Given the description of an element on the screen output the (x, y) to click on. 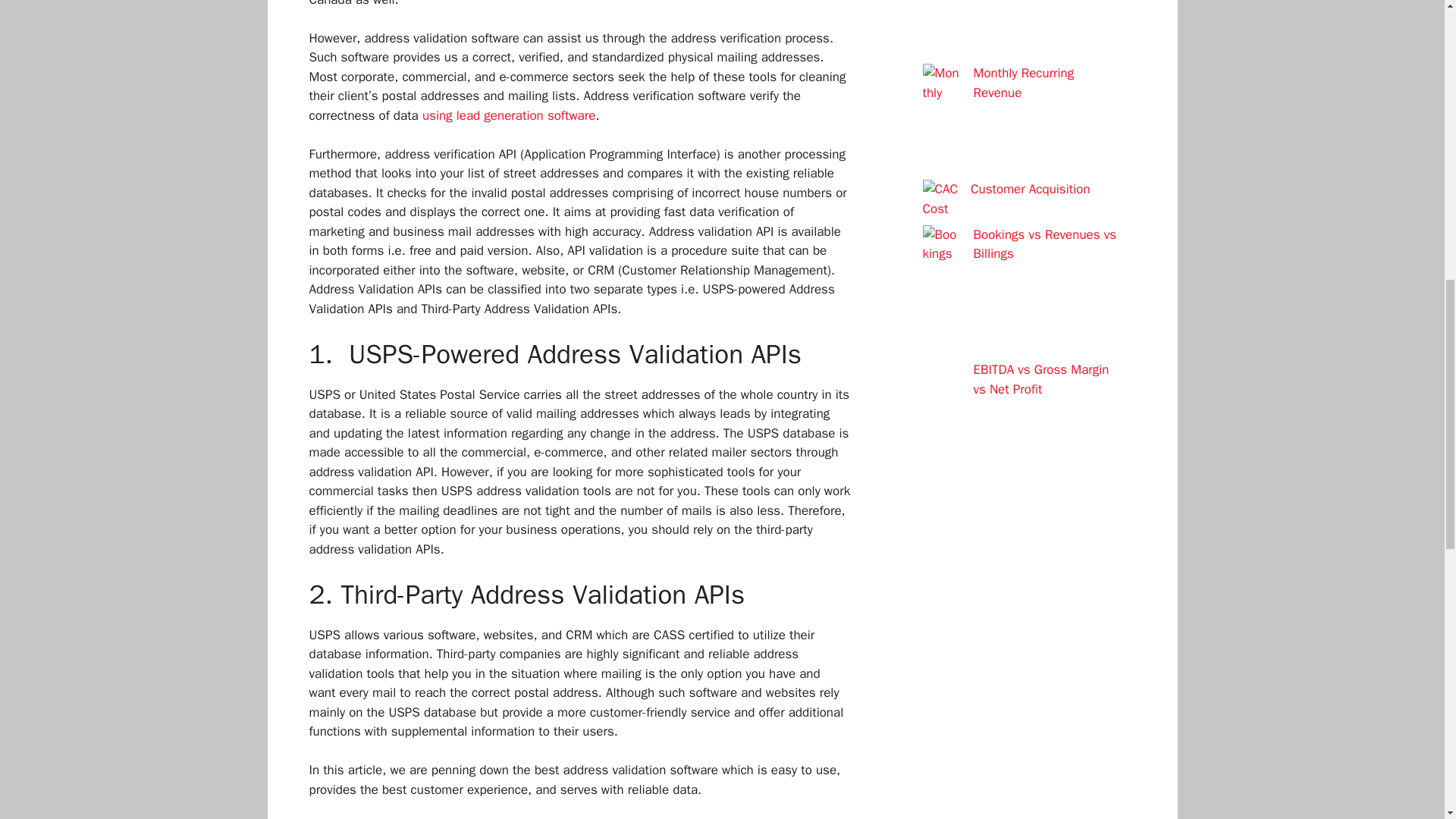
Monthly Recurring Revenue (1024, 82)
Customer Acquisition Cost (1005, 198)
using lead generation software (508, 115)
Bookings vs Revenues vs Billings (1045, 243)
